Given the description of an element on the screen output the (x, y) to click on. 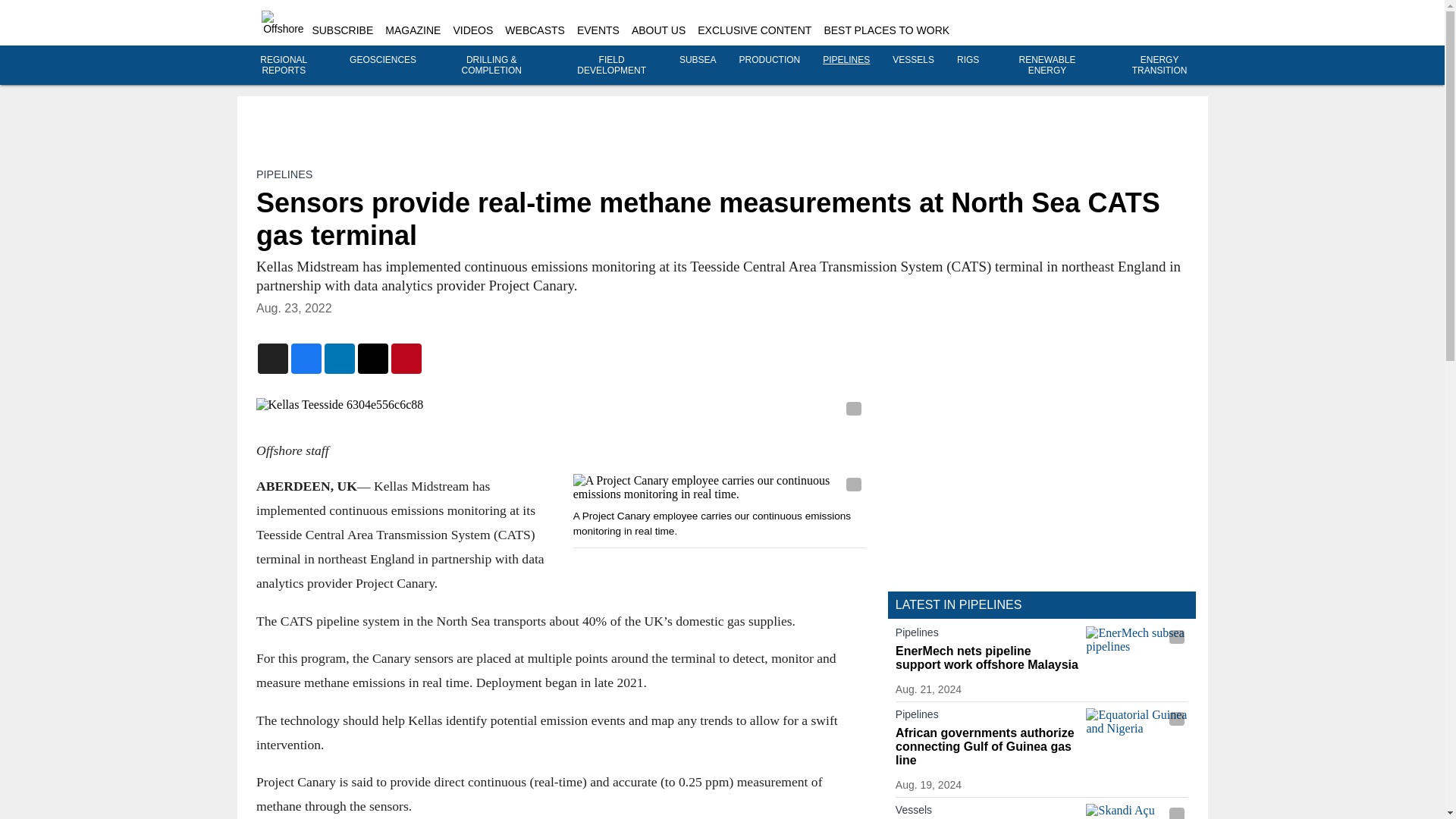
MAGAZINE (413, 30)
EnerMech subsea pipelines (1137, 654)
ABOUT US (658, 30)
GEOSCIENCES (382, 59)
PRODUCTION (769, 59)
EVENTS (598, 30)
PIPELINES (284, 174)
WEBCASTS (534, 30)
Equatorial Guinea and Nigeria (1137, 736)
VESSELS (913, 59)
